Given the description of an element on the screen output the (x, y) to click on. 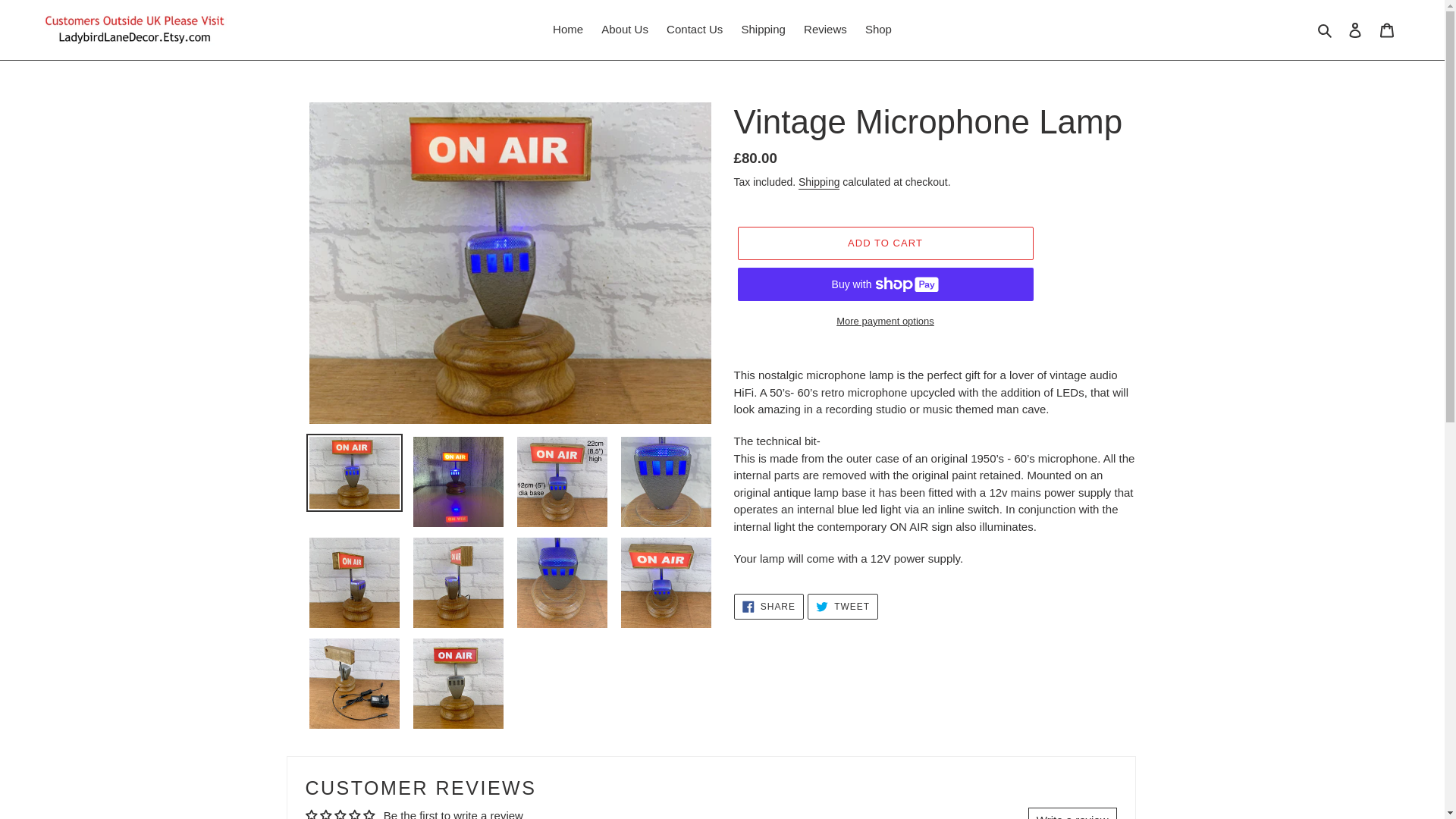
About Us (625, 29)
Contact Us (694, 29)
Reviews (825, 29)
Log in (1355, 29)
ADD TO CART (884, 243)
Home (567, 29)
Shipping (818, 182)
Cart (1387, 29)
Shop (878, 29)
Shipping (762, 29)
More payment options (884, 321)
Search (768, 606)
